Given the description of an element on the screen output the (x, y) to click on. 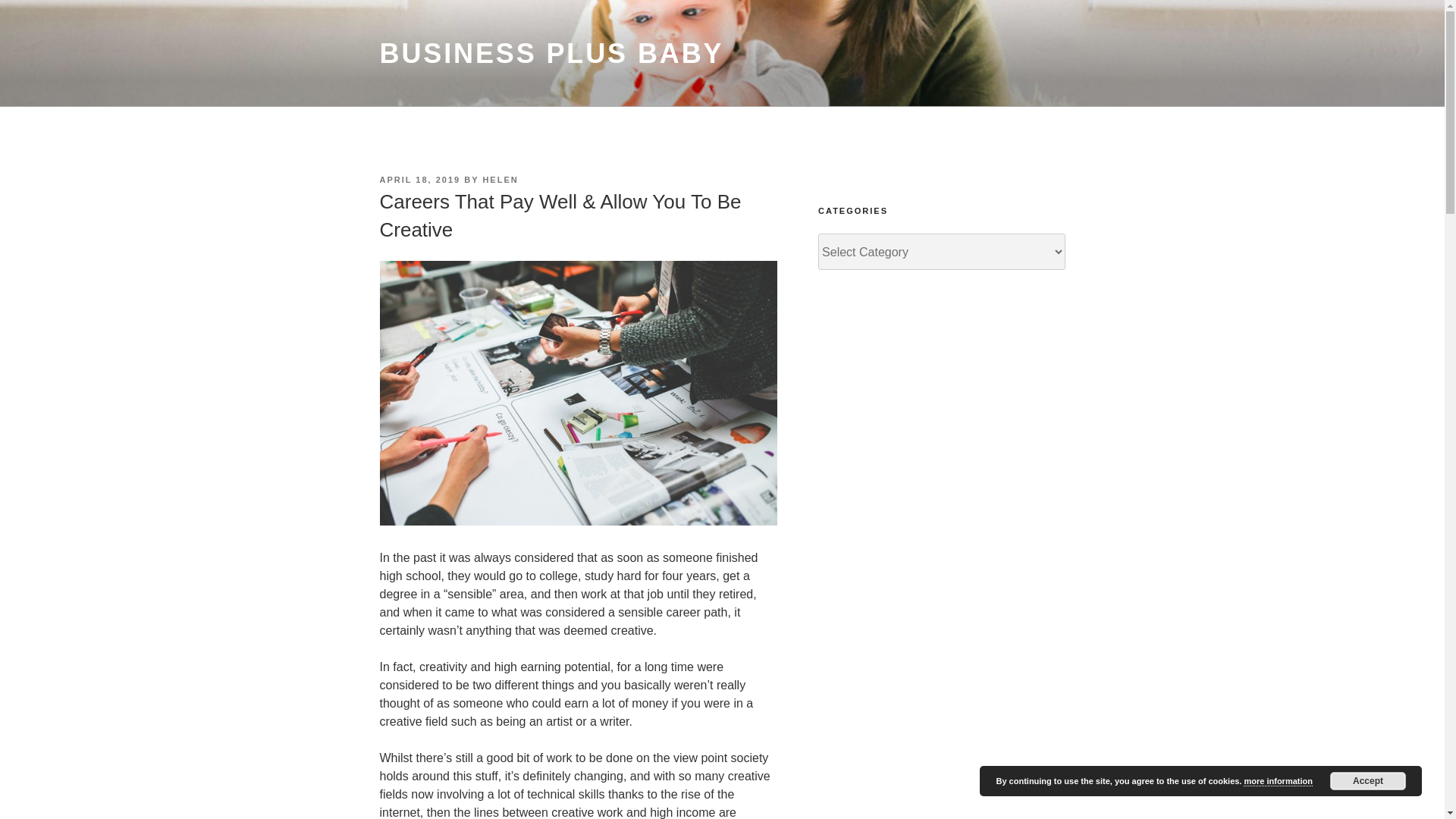
more information (1277, 781)
Accept (1368, 781)
BUSINESS PLUS BABY (550, 52)
APRIL 18, 2019 (419, 179)
HELEN (499, 179)
